Given the description of an element on the screen output the (x, y) to click on. 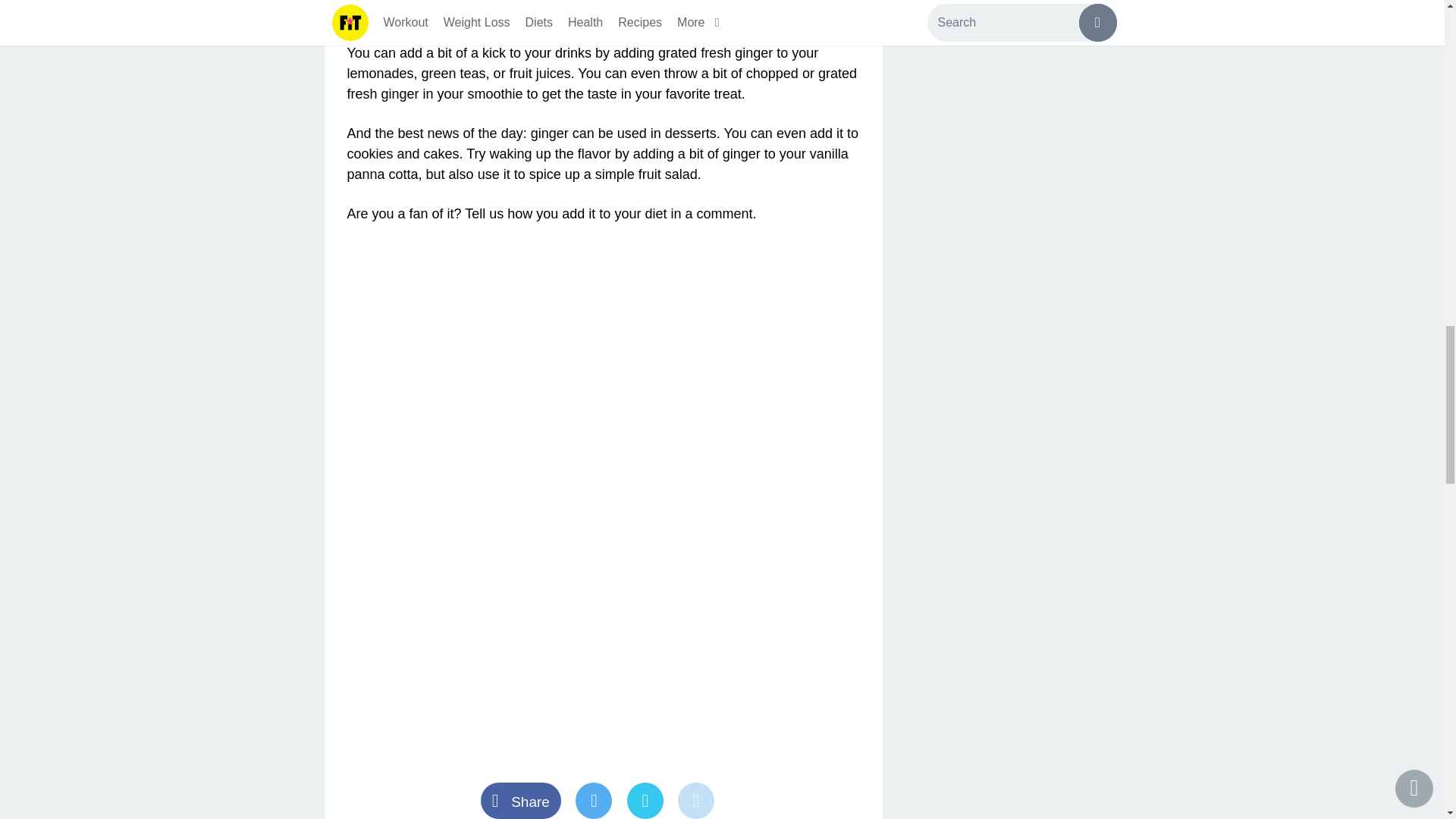
Share (528, 802)
